Given the description of an element on the screen output the (x, y) to click on. 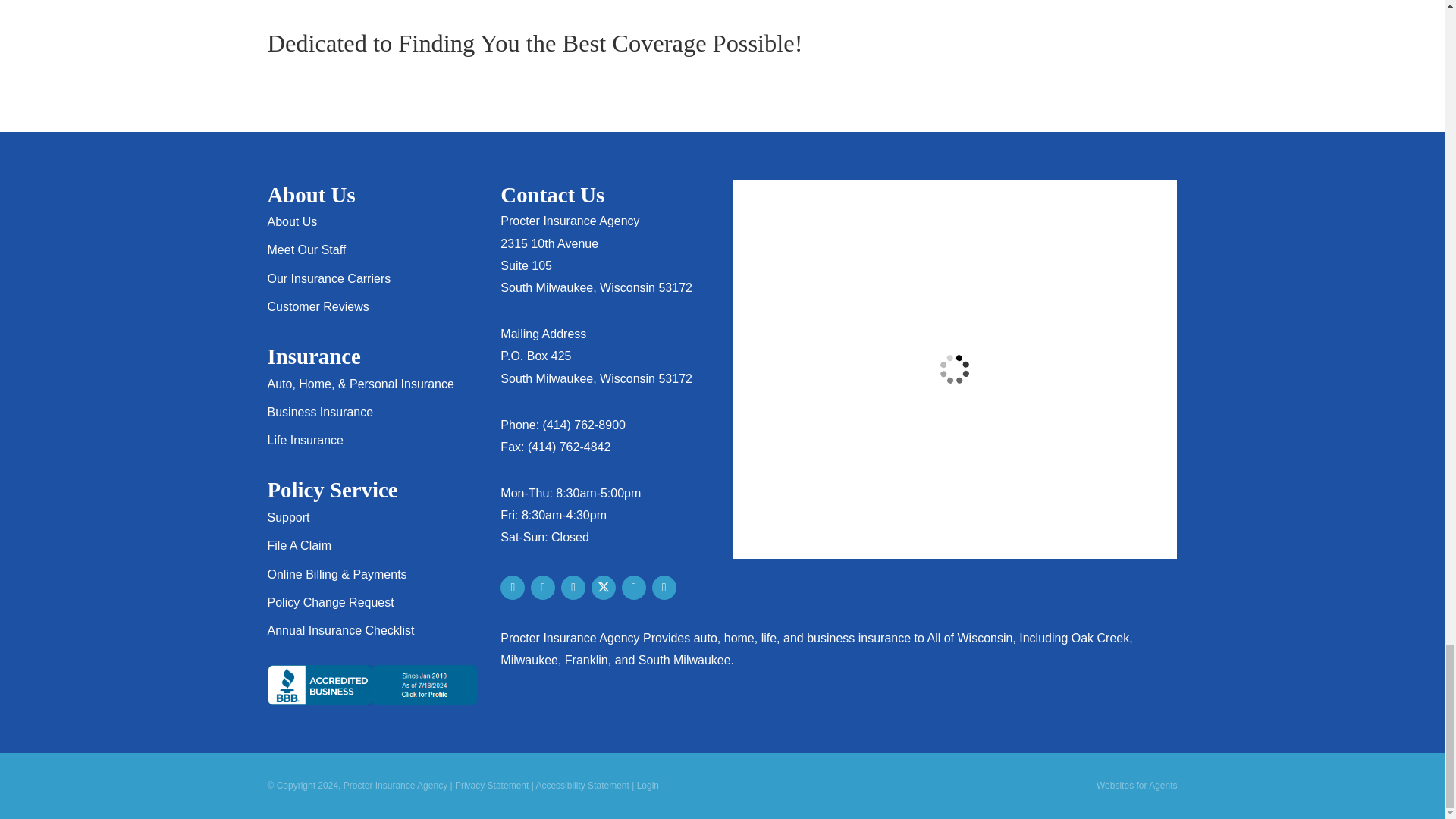
YouTube (664, 587)
X (603, 587)
Facebook (572, 587)
Procter Insurance Agency Logo (1072, 42)
Yelp (542, 587)
LinkedIn (633, 587)
Google Maps (512, 587)
